Given the description of an element on the screen output the (x, y) to click on. 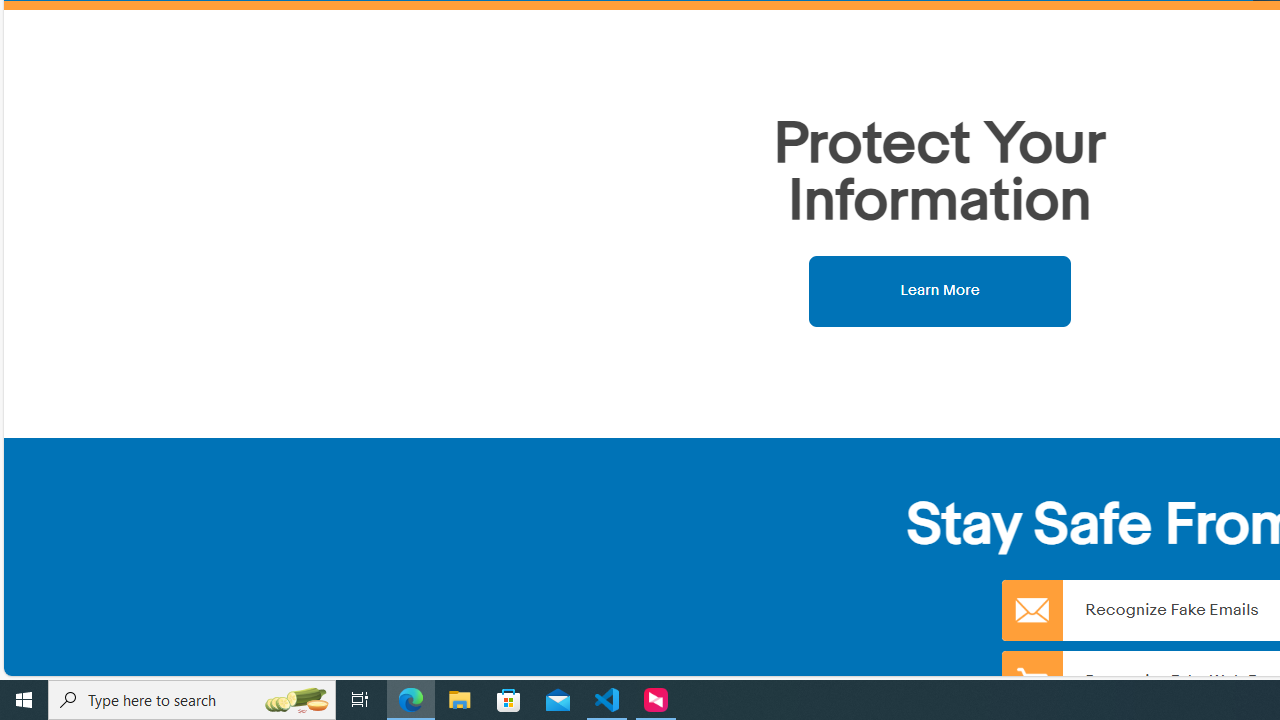
Learn More (939, 290)
